Given the description of an element on the screen output the (x, y) to click on. 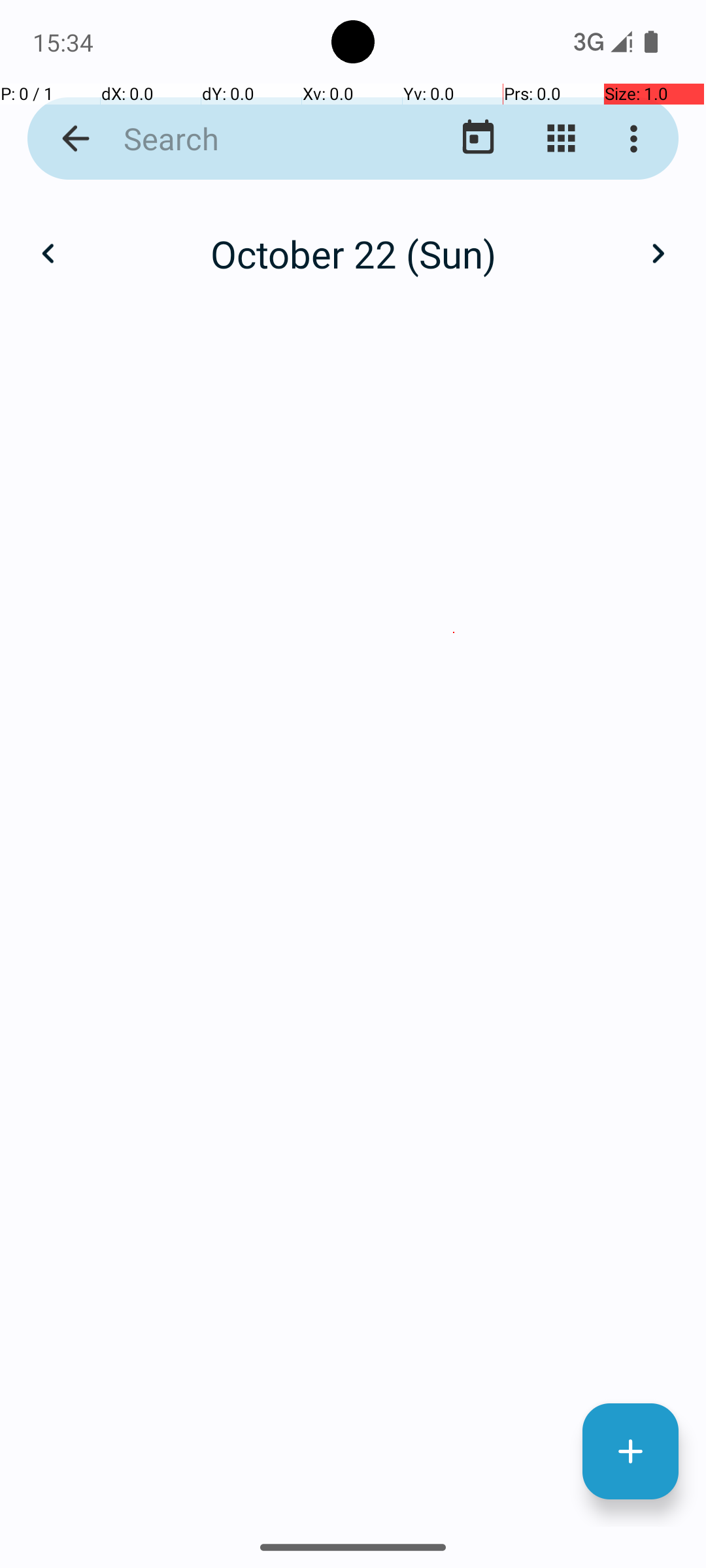
October 22 (Sun) Element type: android.widget.TextView (352, 253)
